Given the description of an element on the screen output the (x, y) to click on. 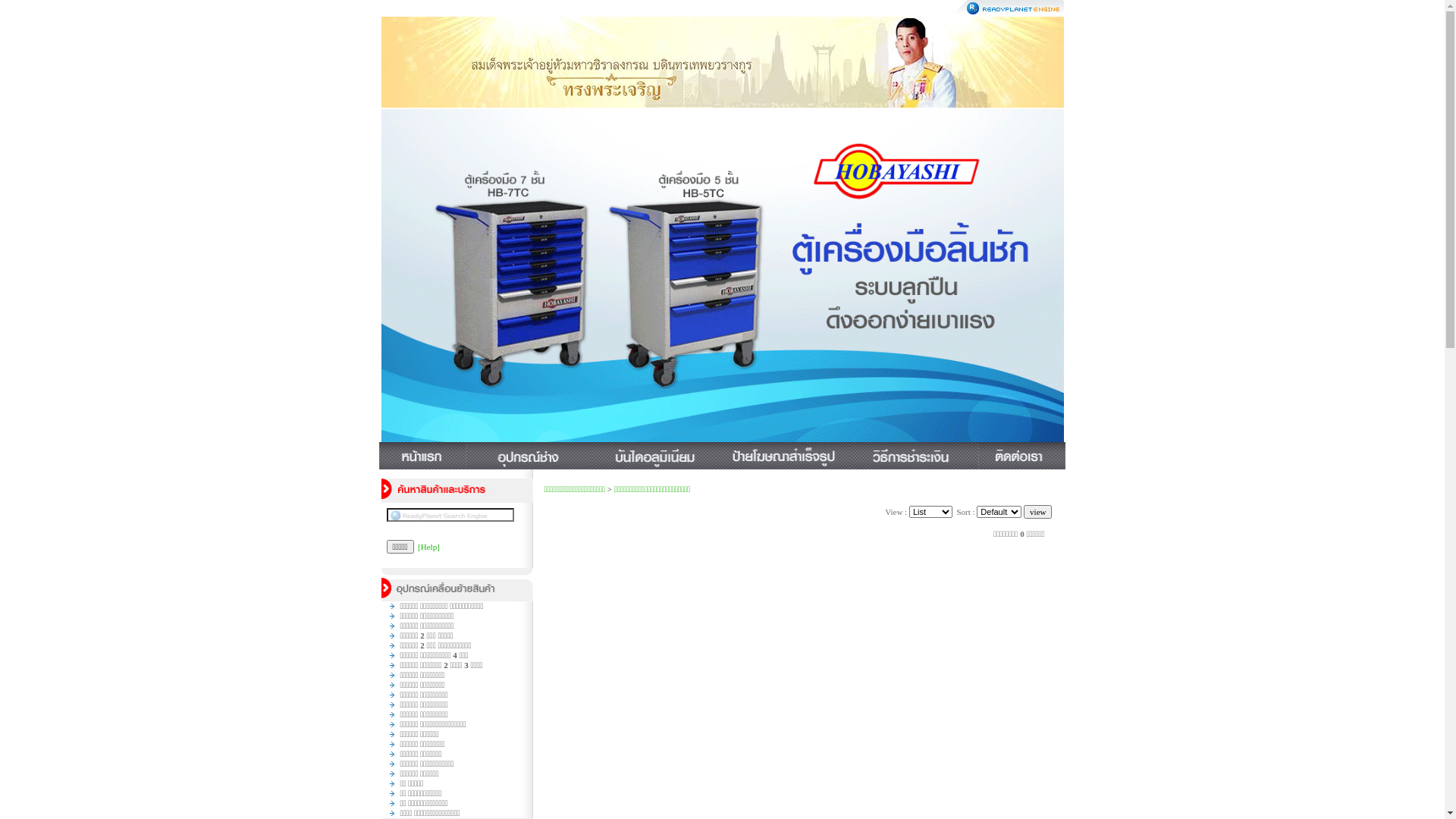
[Help] Element type: text (428, 546)
banner Element type: hover (721, 61)
view Element type: text (1037, 511)
ReadyPlanet.com Element type: hover (1007, 7)
